Given the description of an element on the screen output the (x, y) to click on. 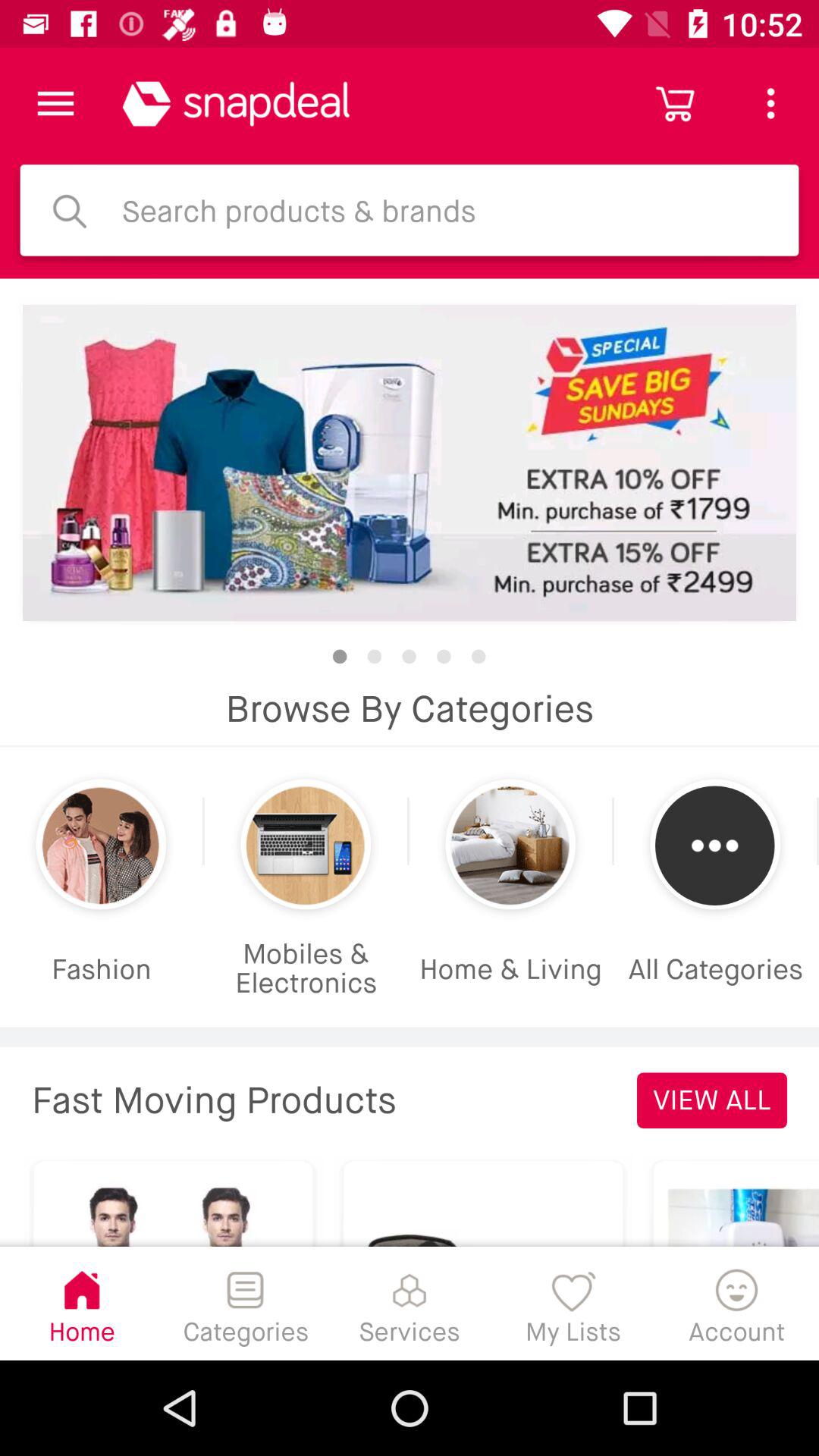
click the menu option (55, 103)
